Given the description of an element on the screen output the (x, y) to click on. 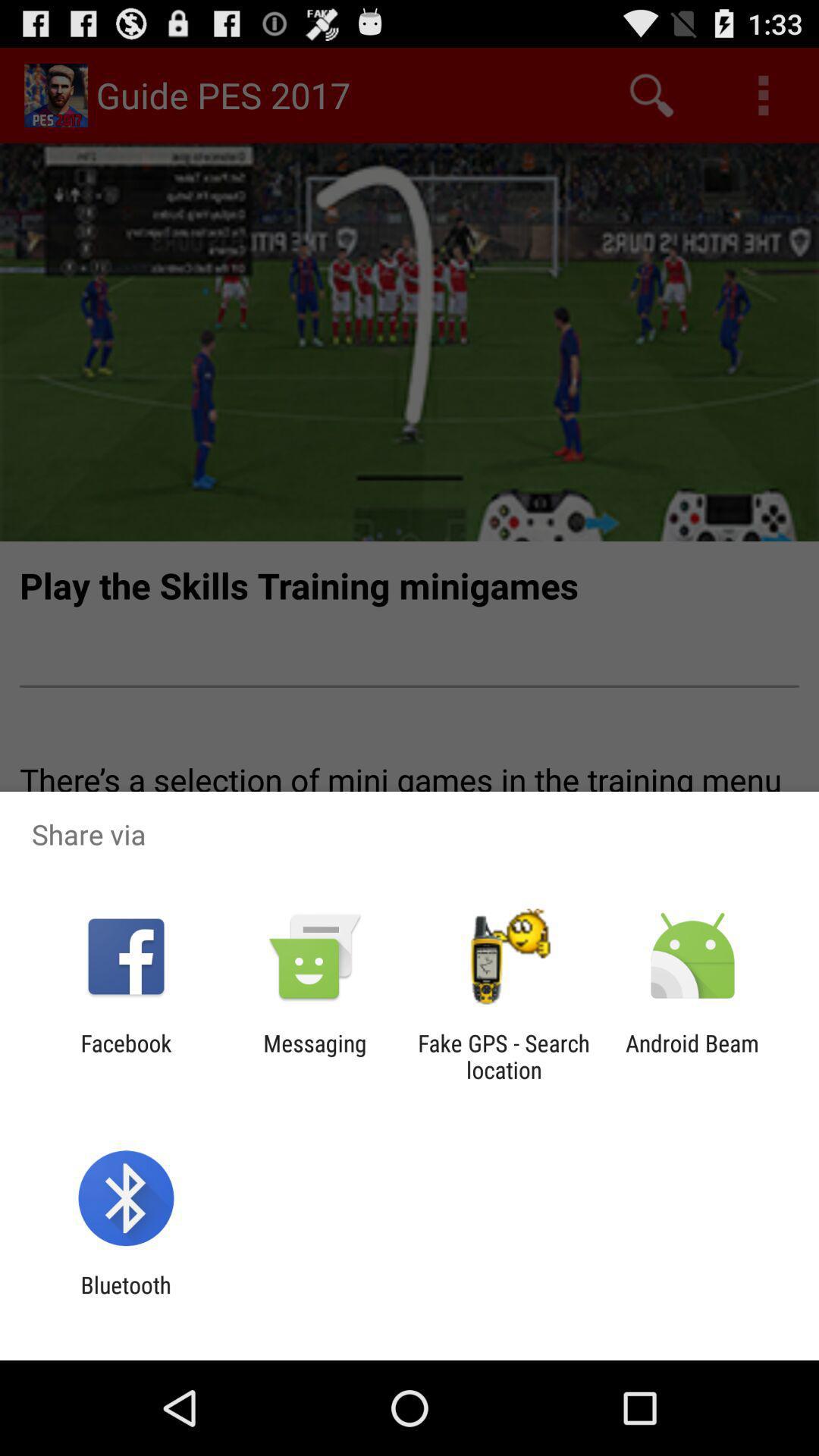
turn on icon next to messaging (503, 1056)
